Given the description of an element on the screen output the (x, y) to click on. 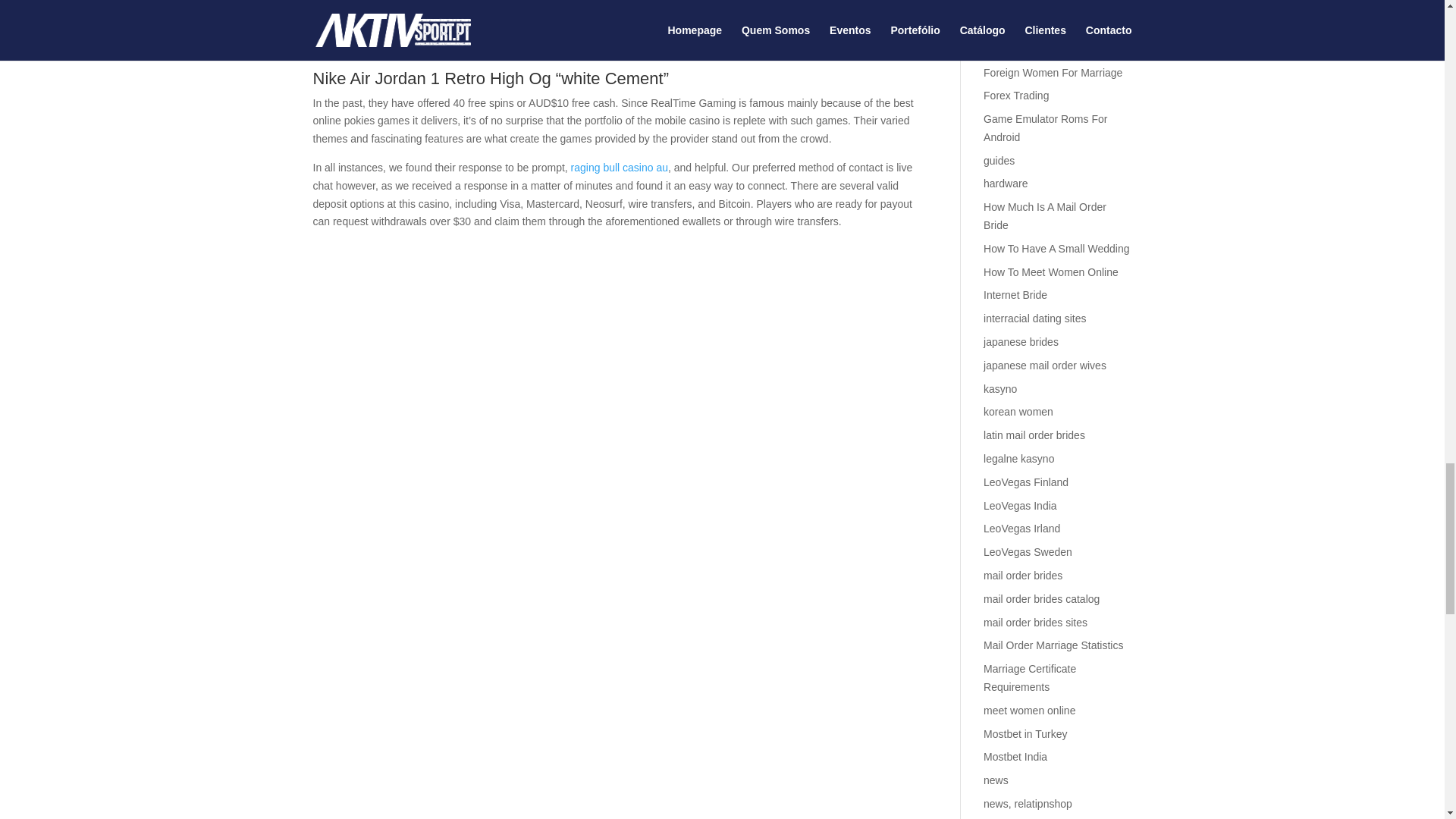
hardware (1005, 183)
raging bull casino au (619, 167)
